Given the description of an element on the screen output the (x, y) to click on. 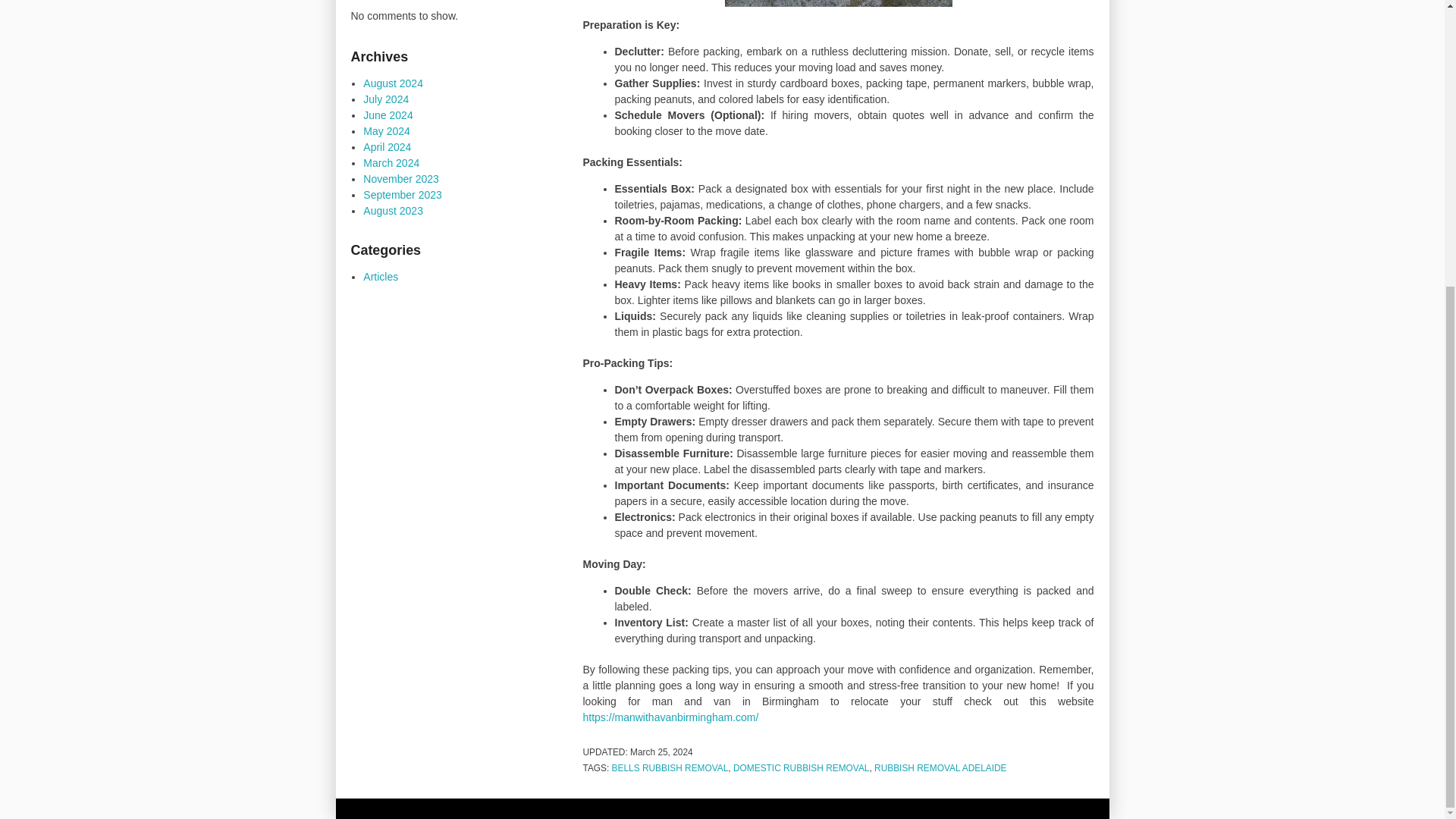
RUBBISH REMOVAL ADELAIDE (940, 767)
September 2023 (402, 194)
BELLS RUBBISH REMOVAL (670, 767)
April 2024 (386, 146)
November 2023 (400, 178)
DOMESTIC RUBBISH REMOVAL (801, 767)
August 2023 (392, 210)
August 2024 (392, 82)
Articles (379, 276)
March 25, 2024 (661, 751)
